Given the description of an element on the screen output the (x, y) to click on. 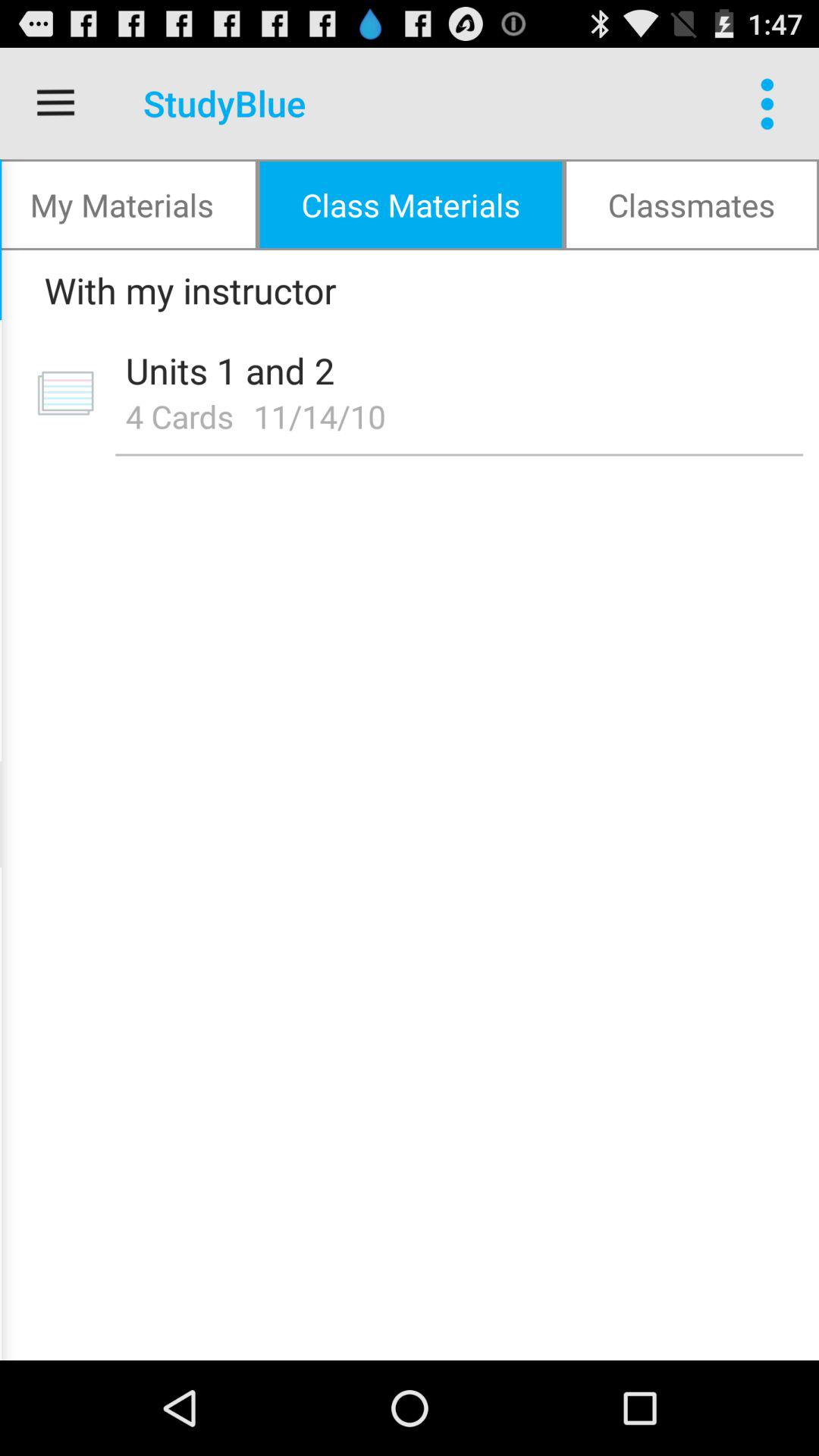
launch icon next to my materials icon (410, 204)
